Given the description of an element on the screen output the (x, y) to click on. 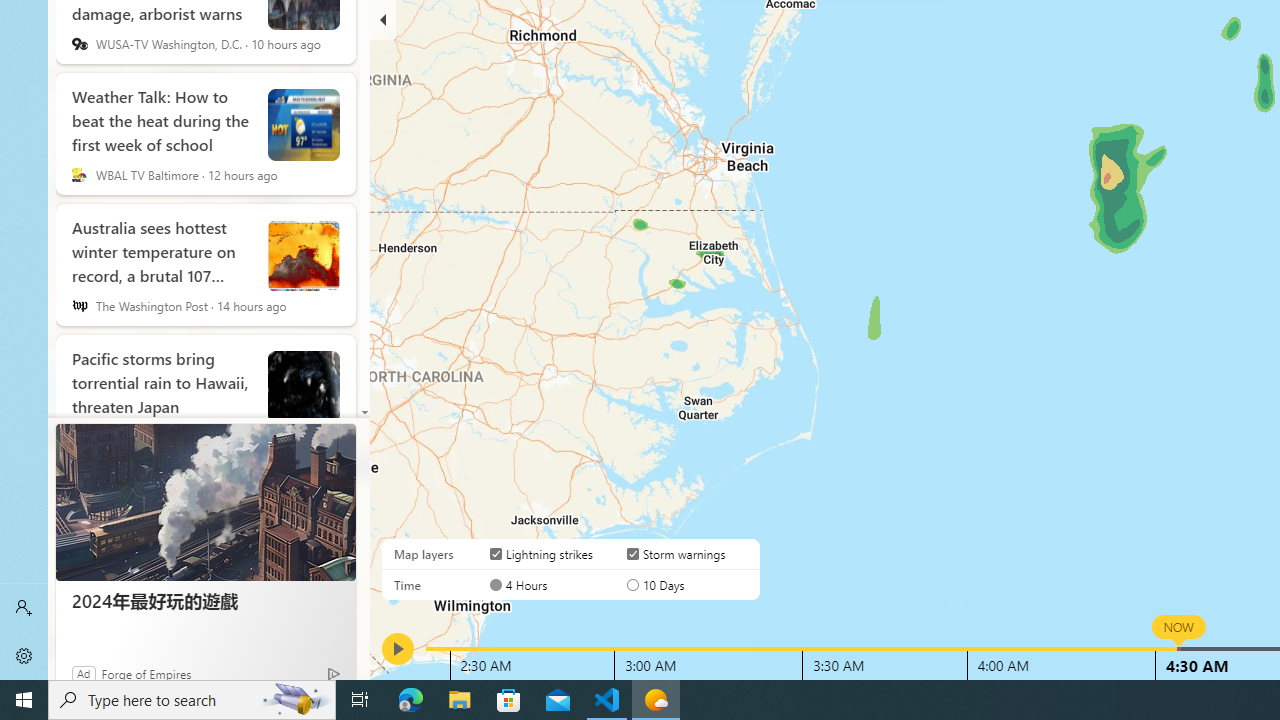
Sign in (24, 607)
Settings (24, 655)
Weather - 1 running window (656, 699)
